Given the description of an element on the screen output the (x, y) to click on. 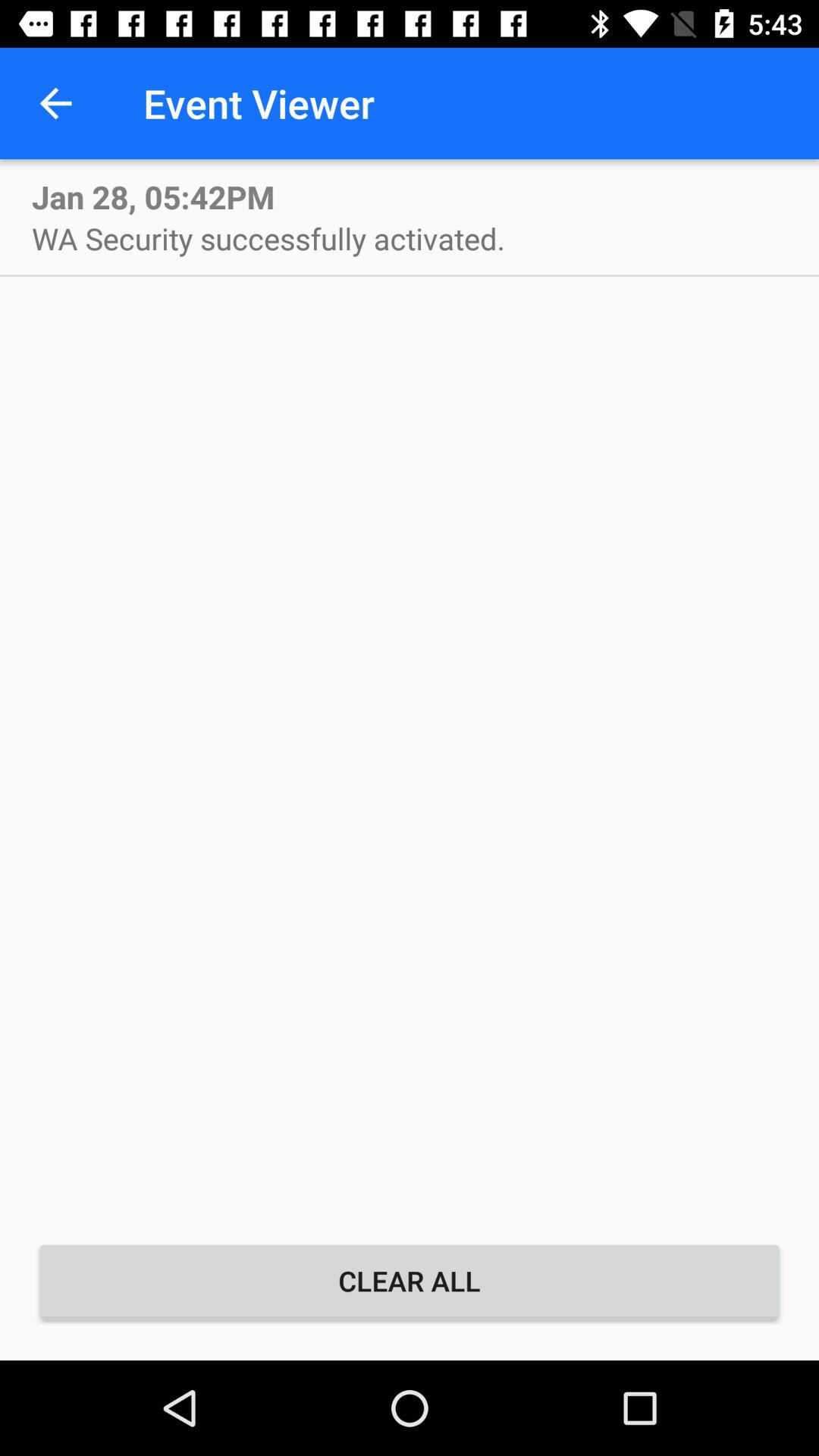
jump until the clear all (409, 1280)
